Given the description of an element on the screen output the (x, y) to click on. 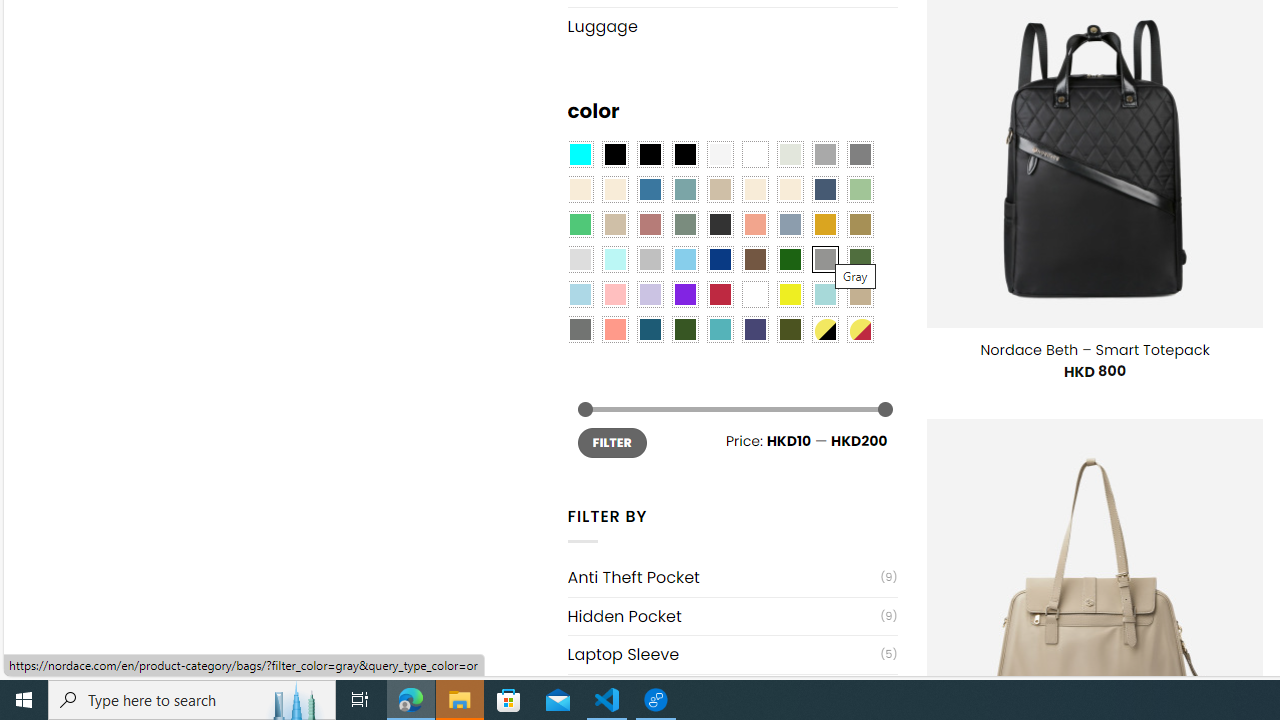
Aqua (824, 295)
Navy Blue (719, 259)
Army Green (789, 329)
Teal (719, 329)
Green (859, 259)
Forest (684, 329)
Luggage (732, 25)
Pink (614, 295)
Light Gray (579, 259)
Light Green (859, 190)
Anti Theft Pocket (723, 577)
Hale Navy (824, 190)
Ash Gray (789, 154)
Light Taupe (614, 224)
Laptop Sleeve(5) (732, 654)
